Given the description of an element on the screen output the (x, y) to click on. 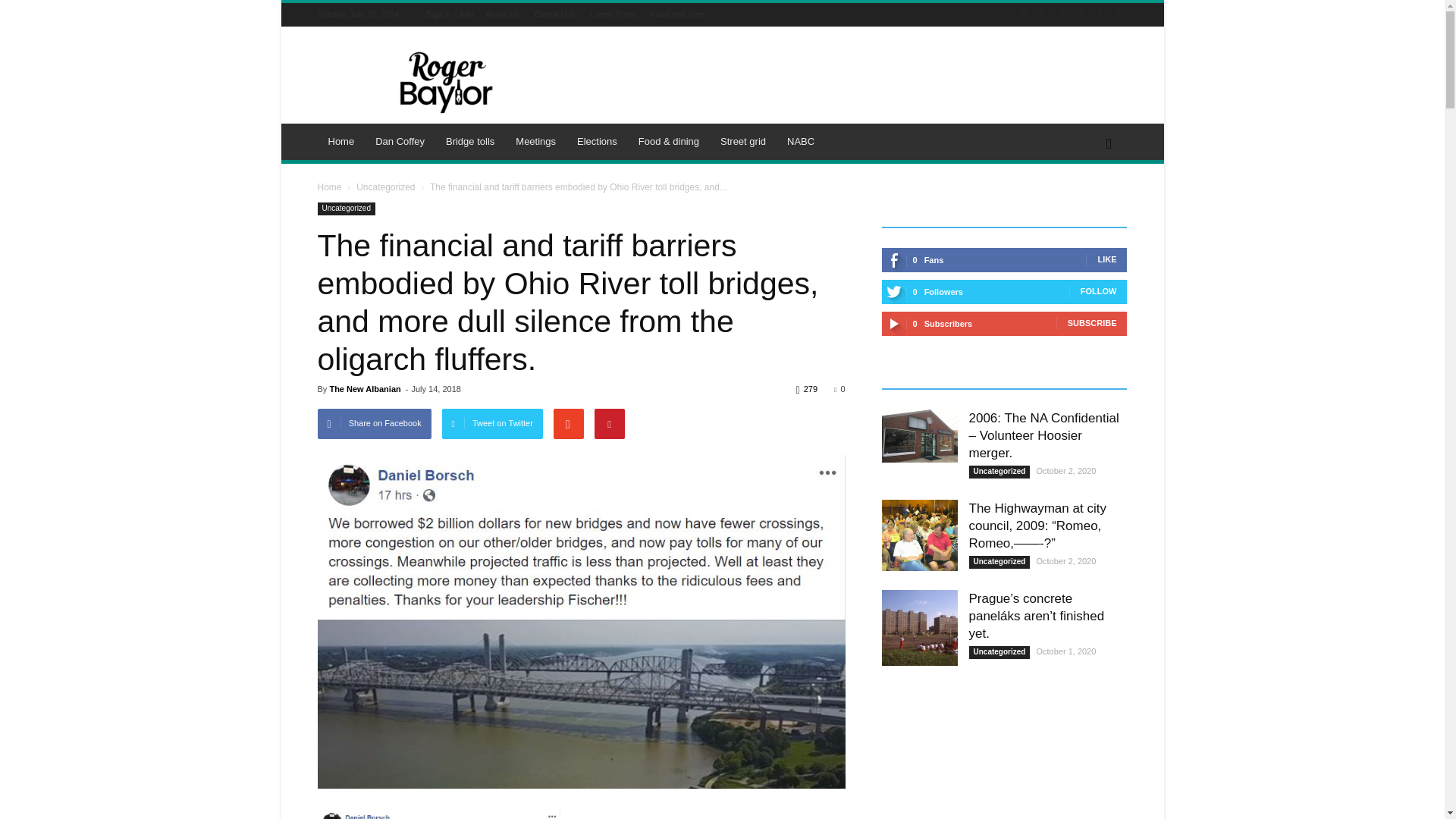
Home (341, 141)
Latest Posts (612, 13)
Behance (1023, 13)
Vimeo (1099, 13)
Twitter (1080, 13)
Dan Coffey (400, 141)
VKontakte (1117, 13)
Facebook (1042, 13)
Contact Us (554, 13)
Food and Dine (677, 13)
About Us (502, 13)
Instagram (1061, 13)
View all posts in Uncategorized (385, 186)
